Given the description of an element on the screen output the (x, y) to click on. 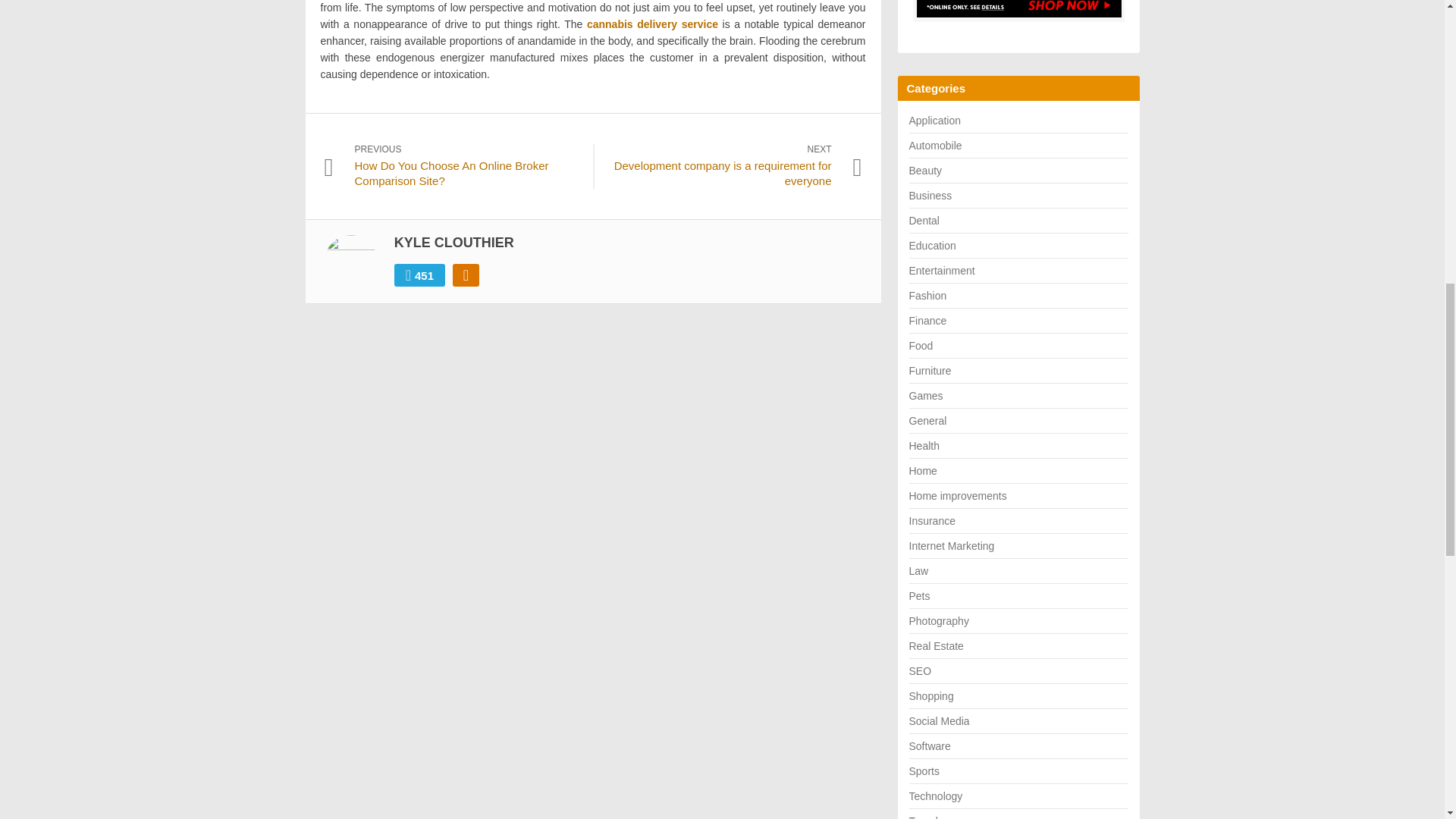
Education (931, 245)
KYLE CLOUTHIER (453, 242)
Food (920, 345)
Entertainment (941, 270)
451 (419, 274)
Business (930, 195)
cannabis delivery service (651, 24)
Subscribe RSS Feed (465, 274)
Health (923, 445)
